Given the description of an element on the screen output the (x, y) to click on. 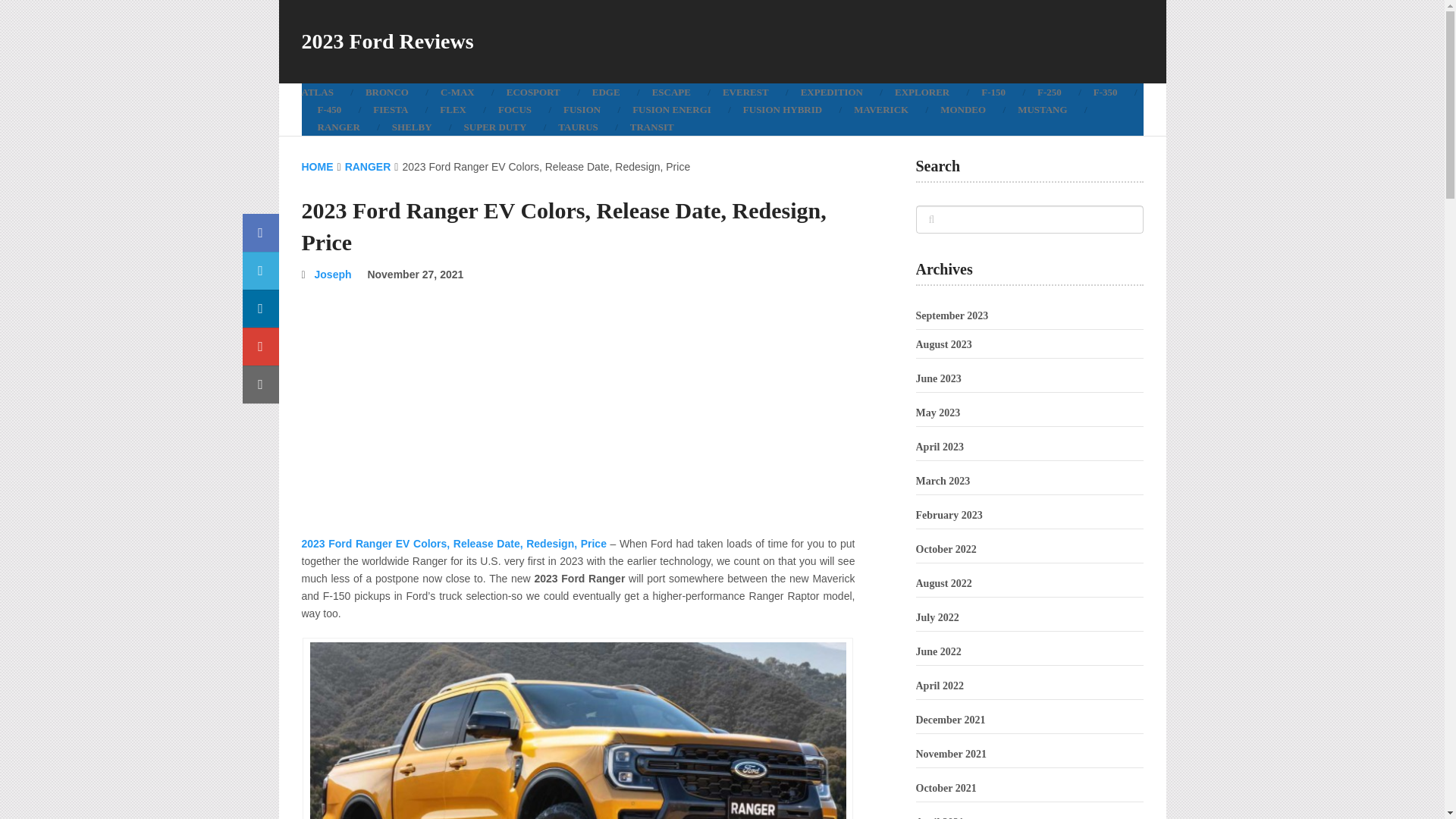
SHELBY (411, 126)
ATLAS (325, 91)
RANGER (368, 166)
F-350 (1105, 91)
FUSION (581, 108)
C-MAX (457, 91)
MUSTANG (1042, 108)
ESCAPE (671, 91)
SUPER DUTY (495, 126)
HOME (317, 166)
FUSION HYBRID (782, 108)
FUSION ENERGI (670, 108)
FIESTA (389, 108)
F-450 (329, 108)
BRONCO (387, 91)
